Given the description of an element on the screen output the (x, y) to click on. 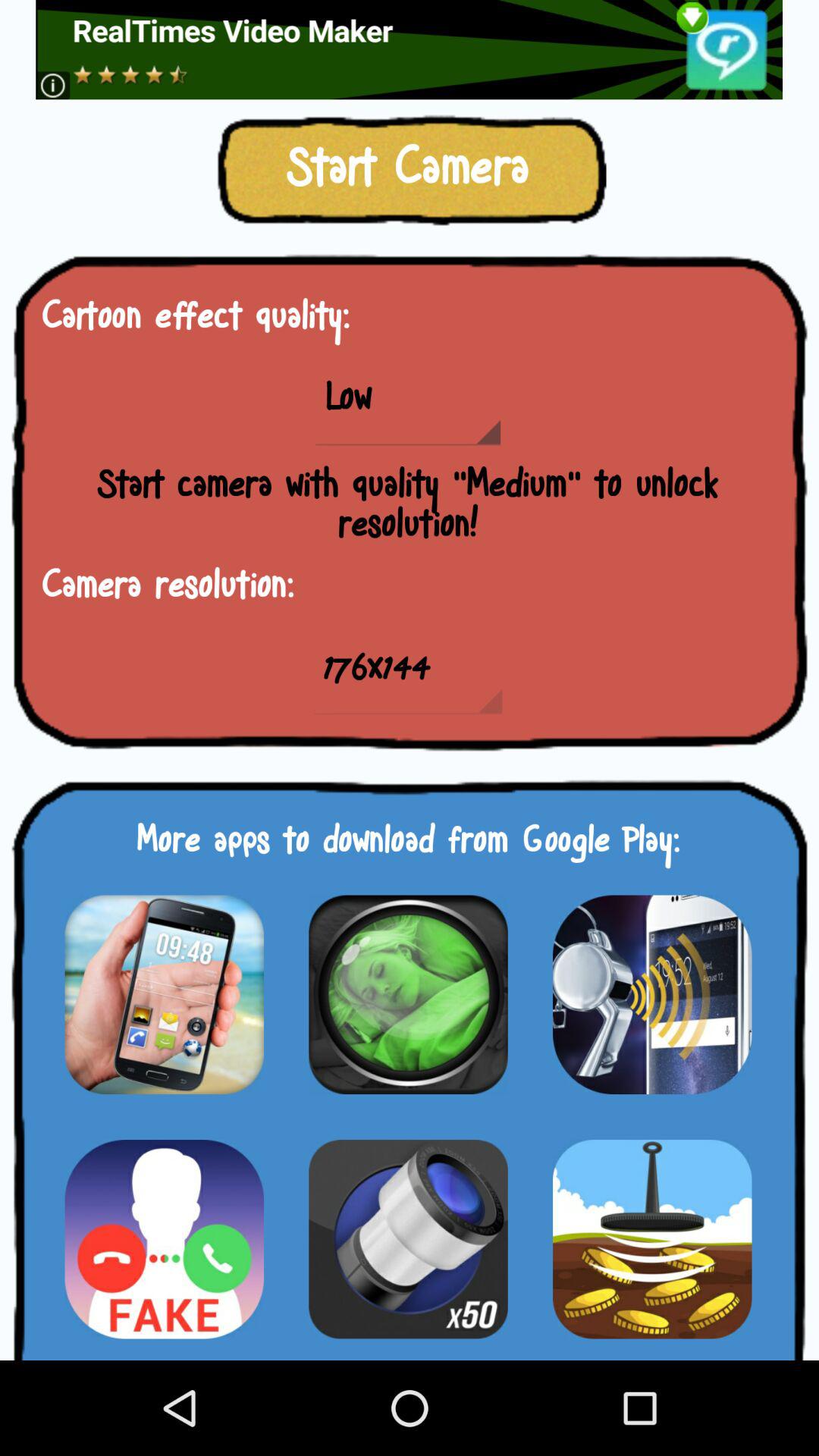
redirect to app download page (164, 994)
